Given the description of an element on the screen output the (x, y) to click on. 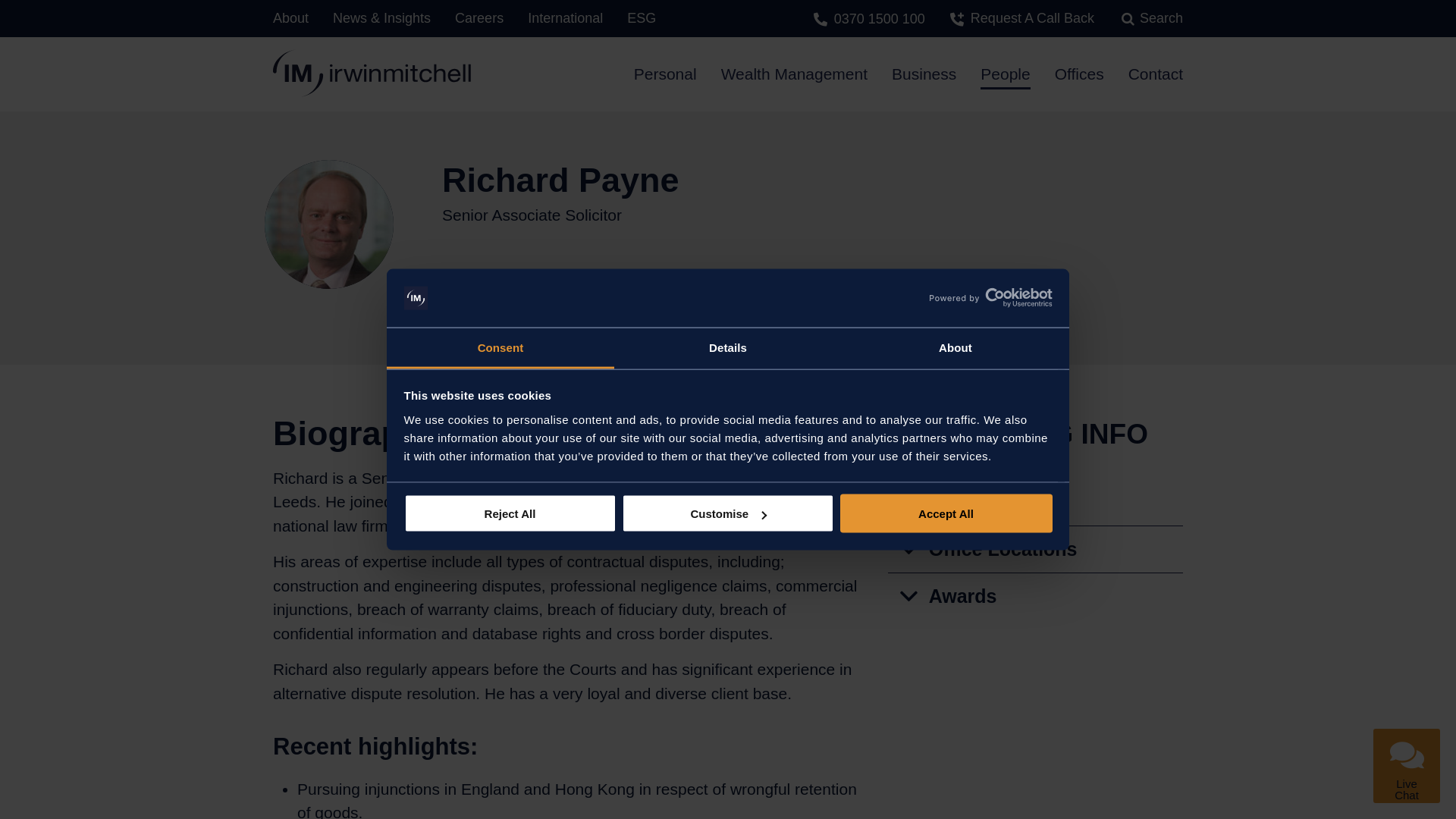
About (954, 347)
Consent (500, 347)
Details (727, 347)
